Given the description of an element on the screen output the (x, y) to click on. 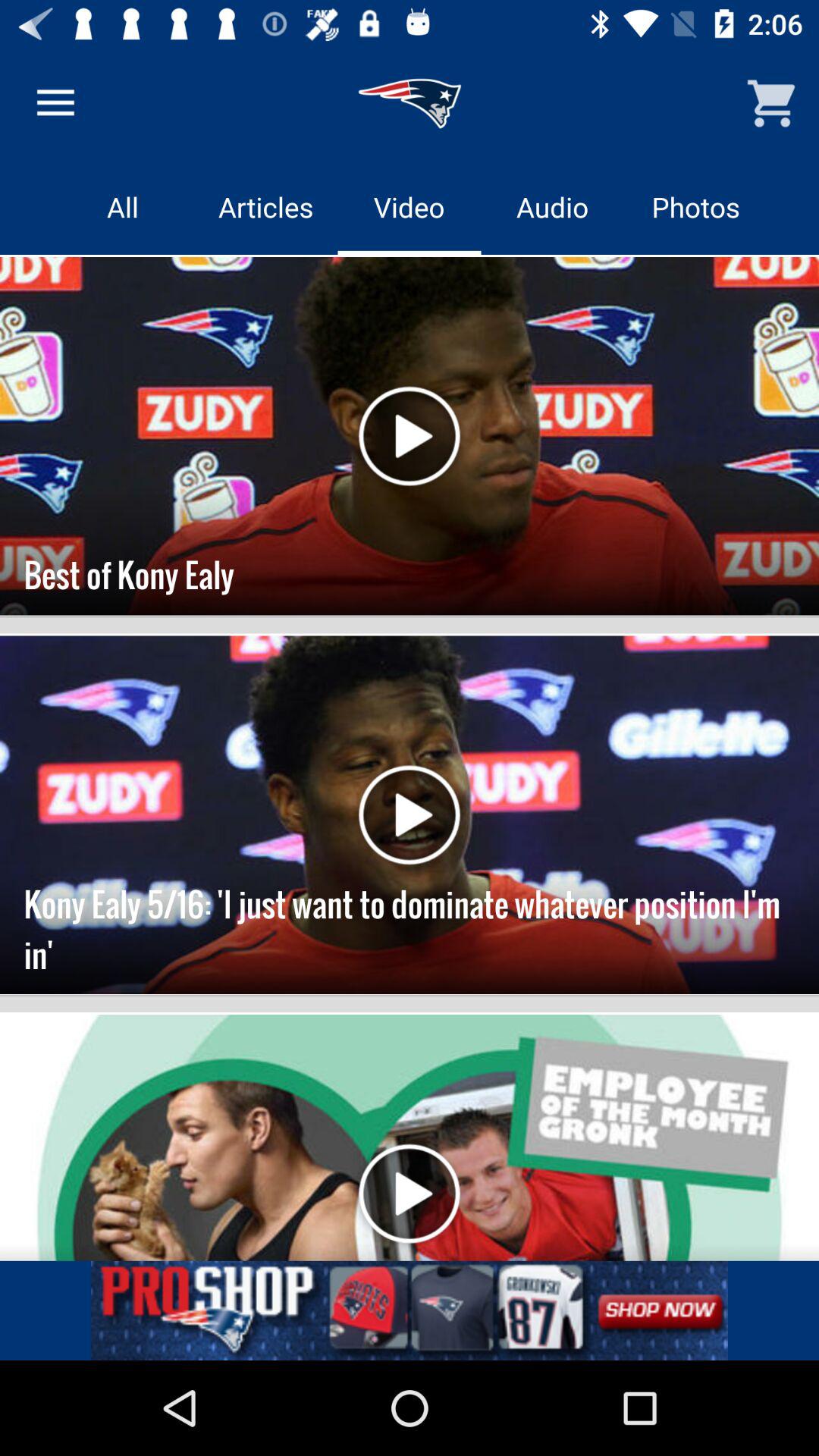
advertiser banner (409, 1310)
